Given the description of an element on the screen output the (x, y) to click on. 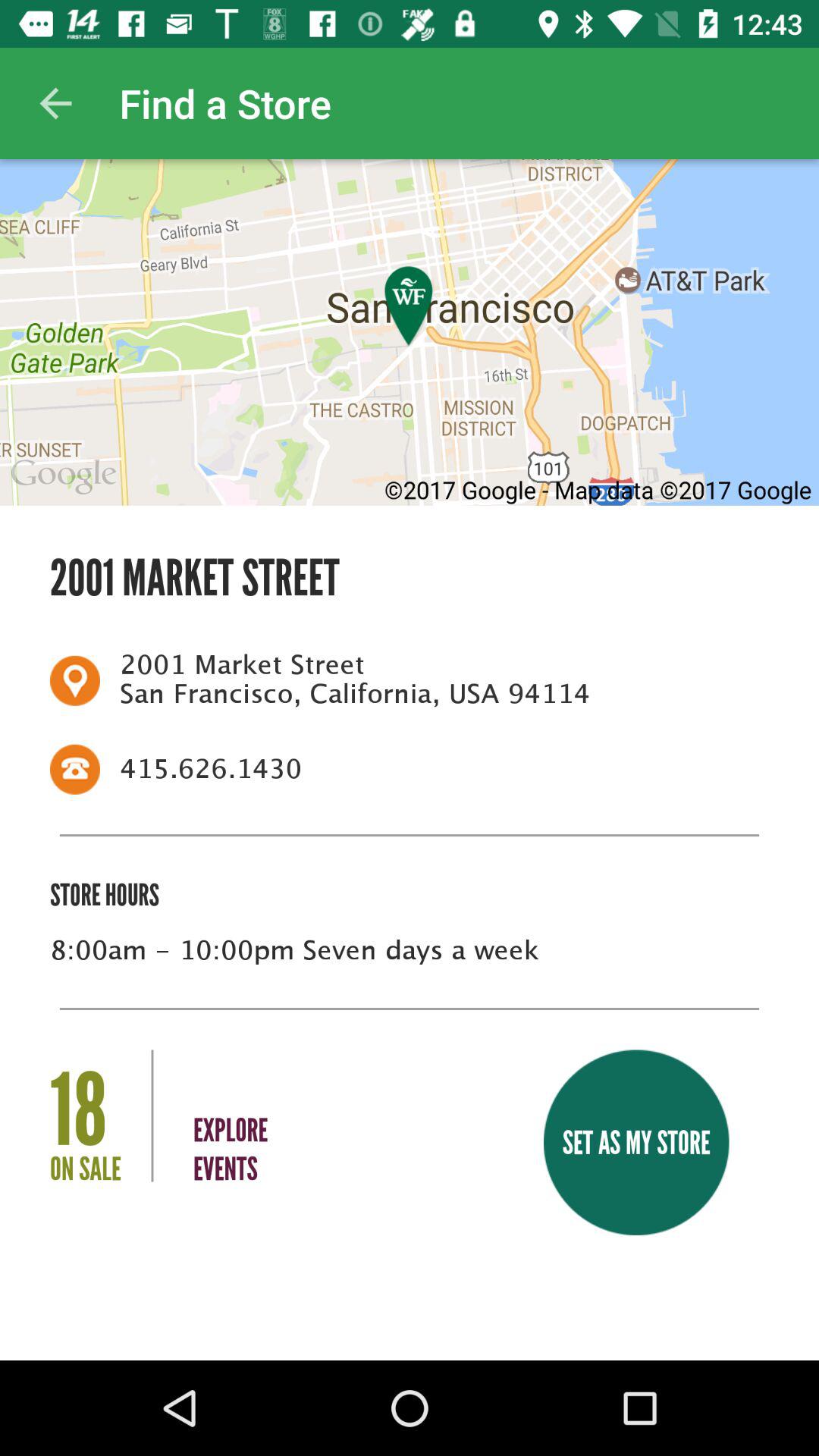
scroll until the set as my (636, 1142)
